Given the description of an element on the screen output the (x, y) to click on. 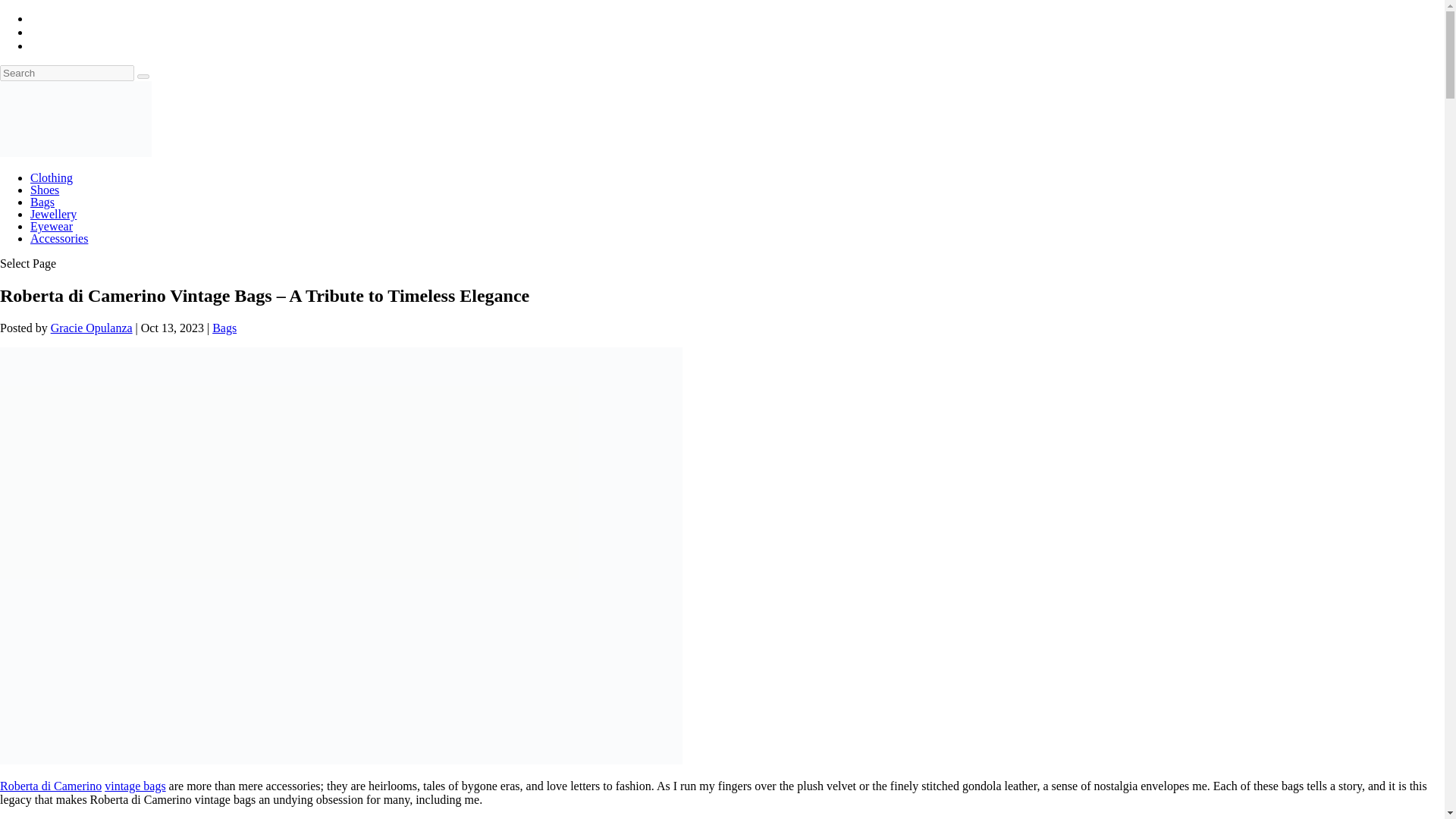
Shoes (44, 189)
Accessories (58, 237)
Gracie Opulanza (91, 327)
Posts tagged with Roberta di Camerino (50, 785)
Bags (42, 201)
Roberta di Camerino (50, 785)
Posts by Gracie Opulanza (91, 327)
Search for: (66, 73)
Jewellery (53, 214)
Bags (223, 327)
Eyewear (51, 226)
vintage bags (134, 785)
Clothing (51, 177)
Posts tagged with Vintage bags (134, 785)
